Given the description of an element on the screen output the (x, y) to click on. 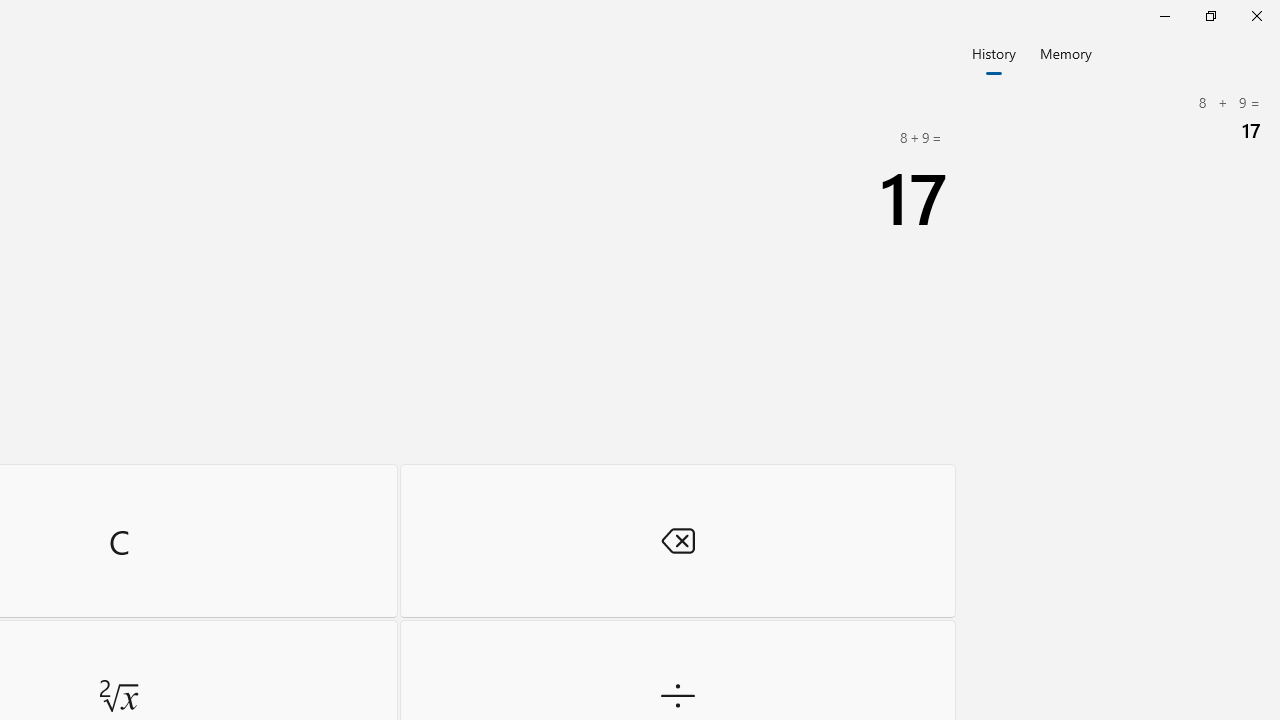
History (993, 52)
8 + 9= 17 (1119, 118)
Minimize Calculator (1164, 15)
Close Calculator (1256, 15)
Backspace (677, 540)
Restore Calculator (1210, 15)
